Given the description of an element on the screen output the (x, y) to click on. 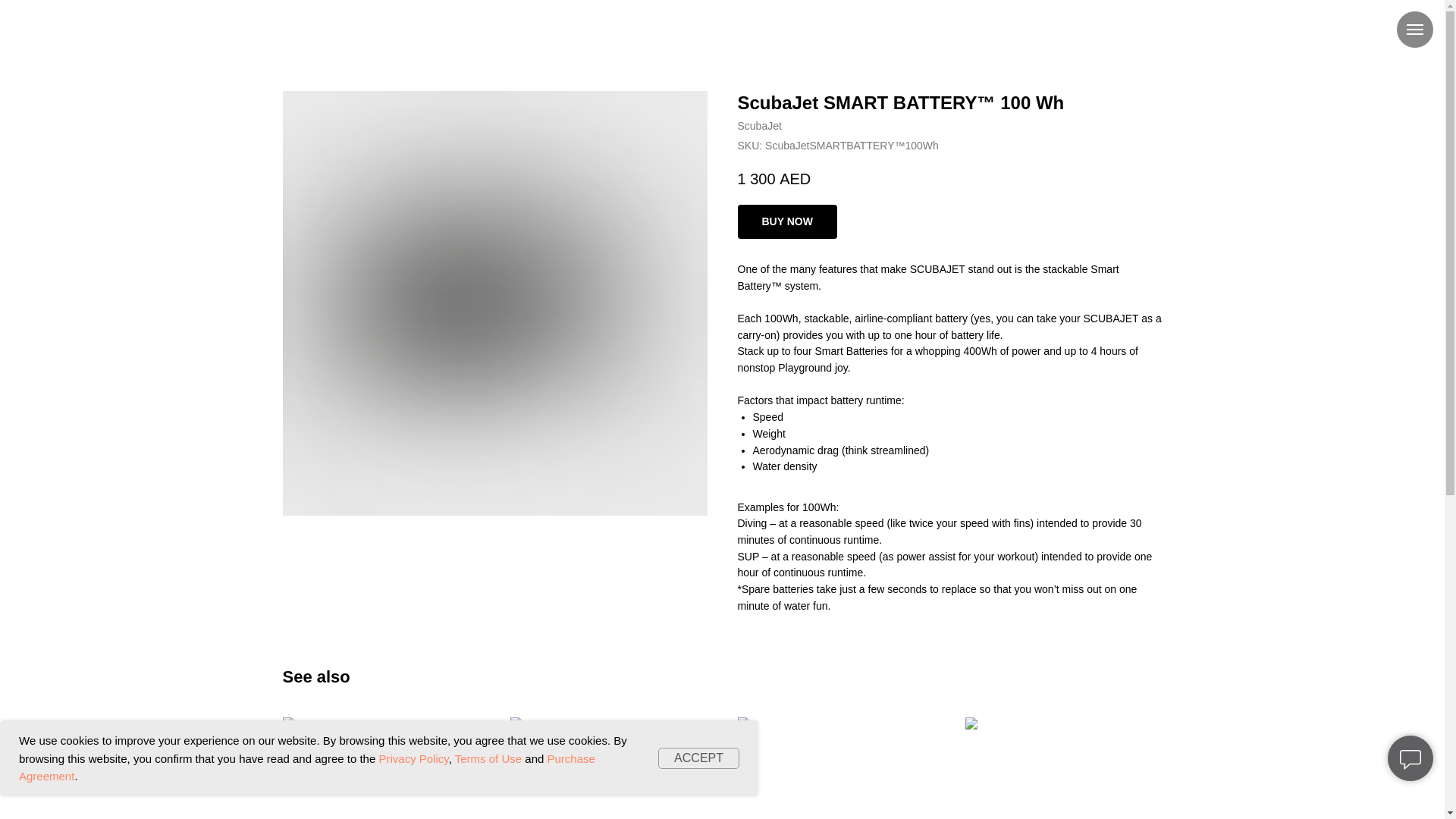
BUY NOW (785, 221)
Purchase Agreement (306, 767)
Terms of Use (487, 758)
Privacy Policy (413, 758)
